Given the description of an element on the screen output the (x, y) to click on. 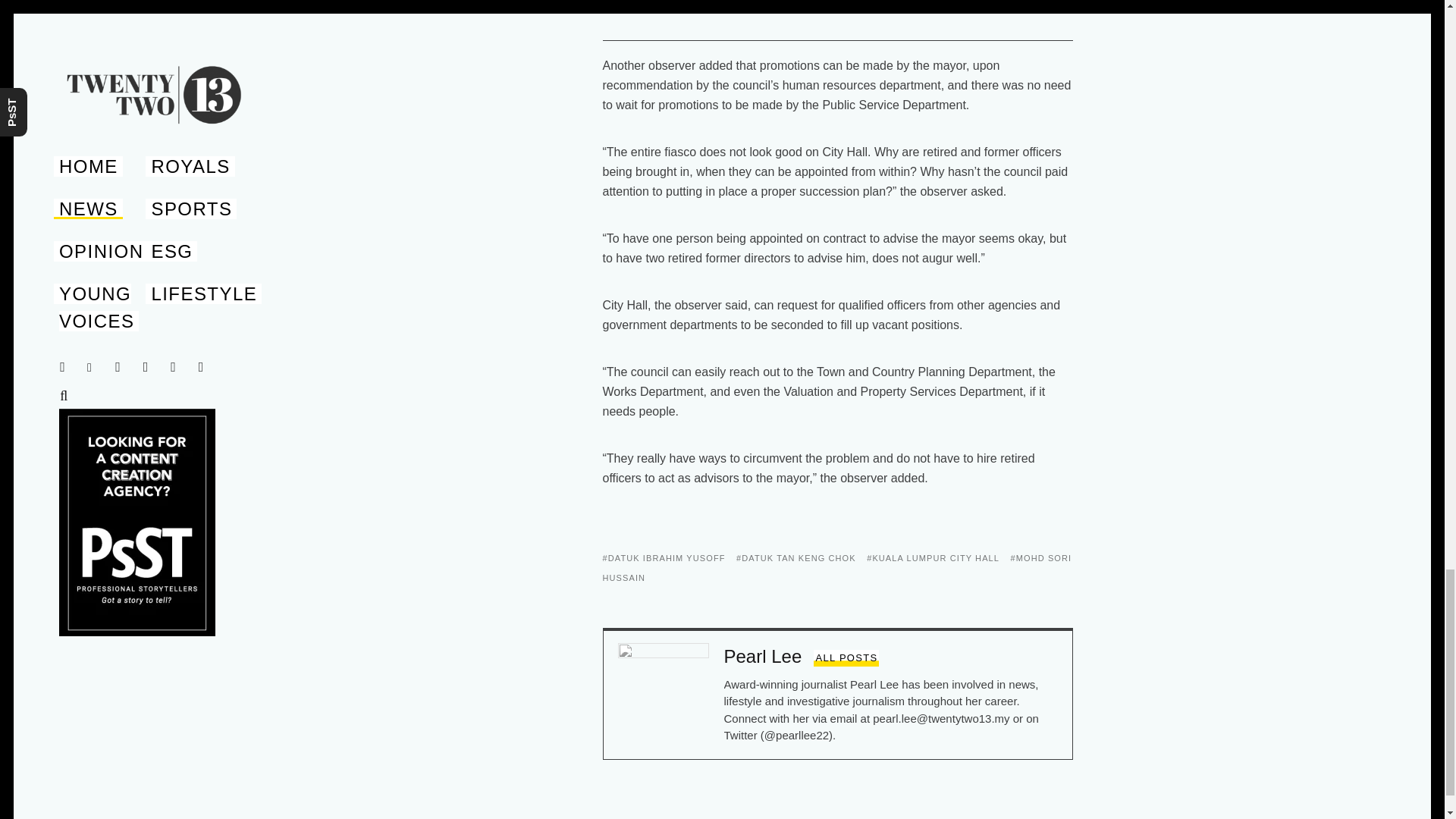
View all posts by Pearl Lee (846, 658)
MOHD SORI HUSSAIN (836, 567)
ALL POSTS (846, 658)
KUALA LUMPUR CITY HALL (932, 557)
DATUK TAN KENG CHOK (796, 557)
DATUK IBRAHIM YUSOFF (663, 557)
